Given the description of an element on the screen output the (x, y) to click on. 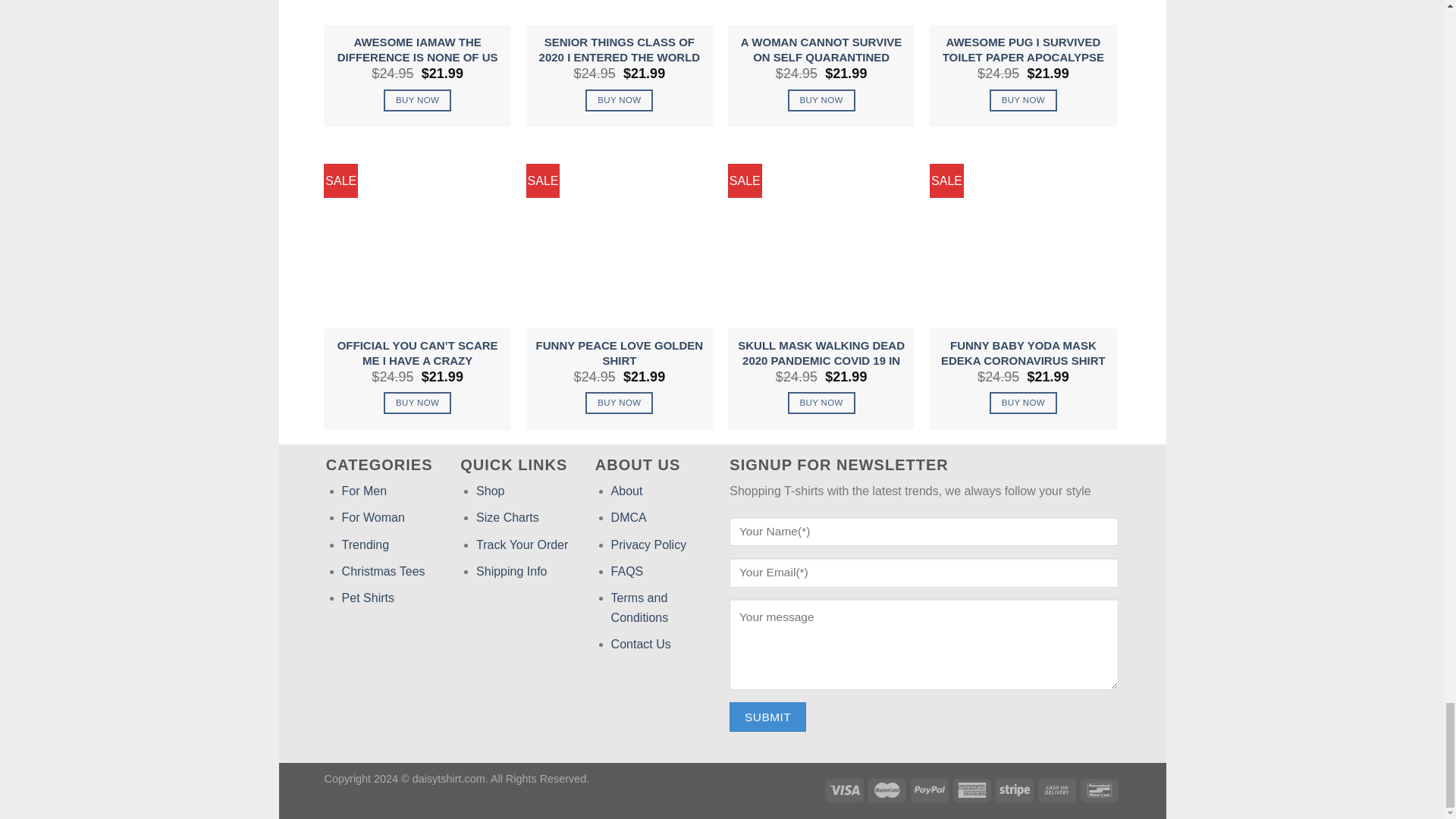
Submit (767, 716)
